Given the description of an element on the screen output the (x, y) to click on. 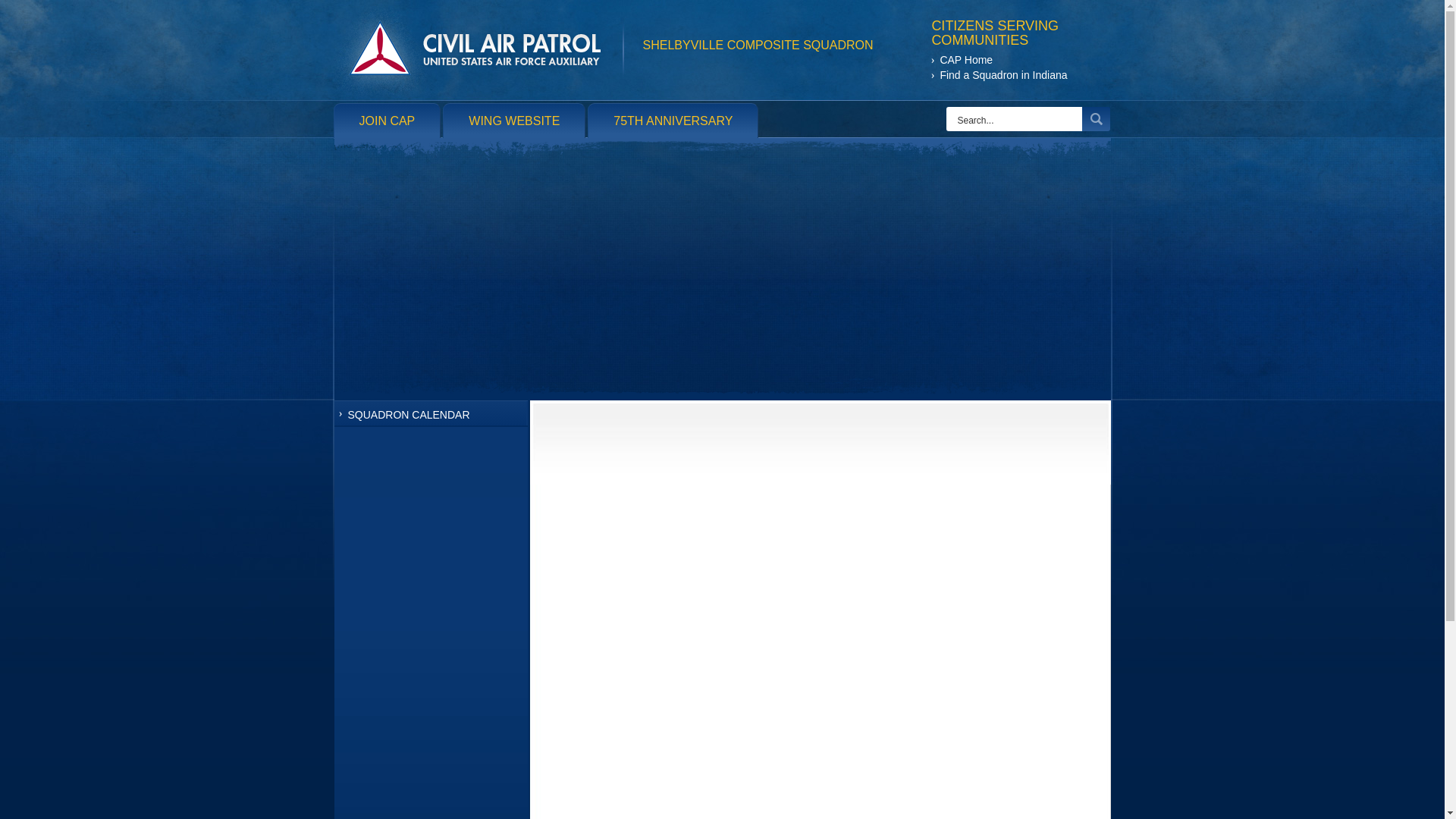
CAP Home Element type: text (998, 59)
Find a Squadron in Indiana Element type: text (998, 75)
75TH ANNIVERSARY Element type: text (672, 120)
JOIN CAP Element type: text (387, 120)
WING WEBSITE Element type: text (513, 120)
SQUADRON CALENDAR Element type: text (429, 413)
